Given the description of an element on the screen output the (x, y) to click on. 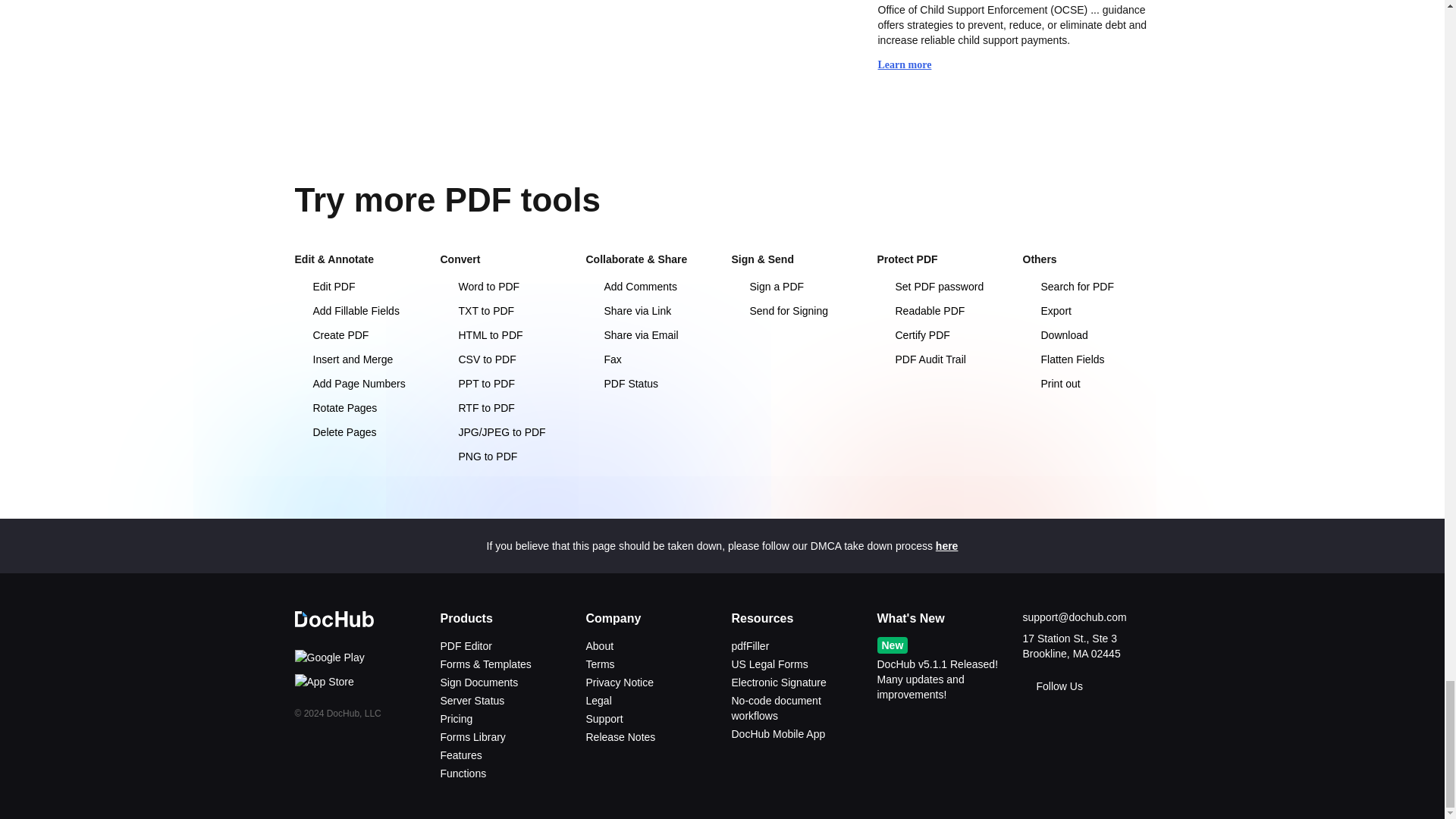
Insert and Merge (358, 359)
Add Page Numbers (358, 383)
Add Fillable Fields (358, 310)
Rotate Pages (358, 407)
Edit PDF (358, 286)
Create PDF (358, 335)
Learn more (910, 64)
